Given the description of an element on the screen output the (x, y) to click on. 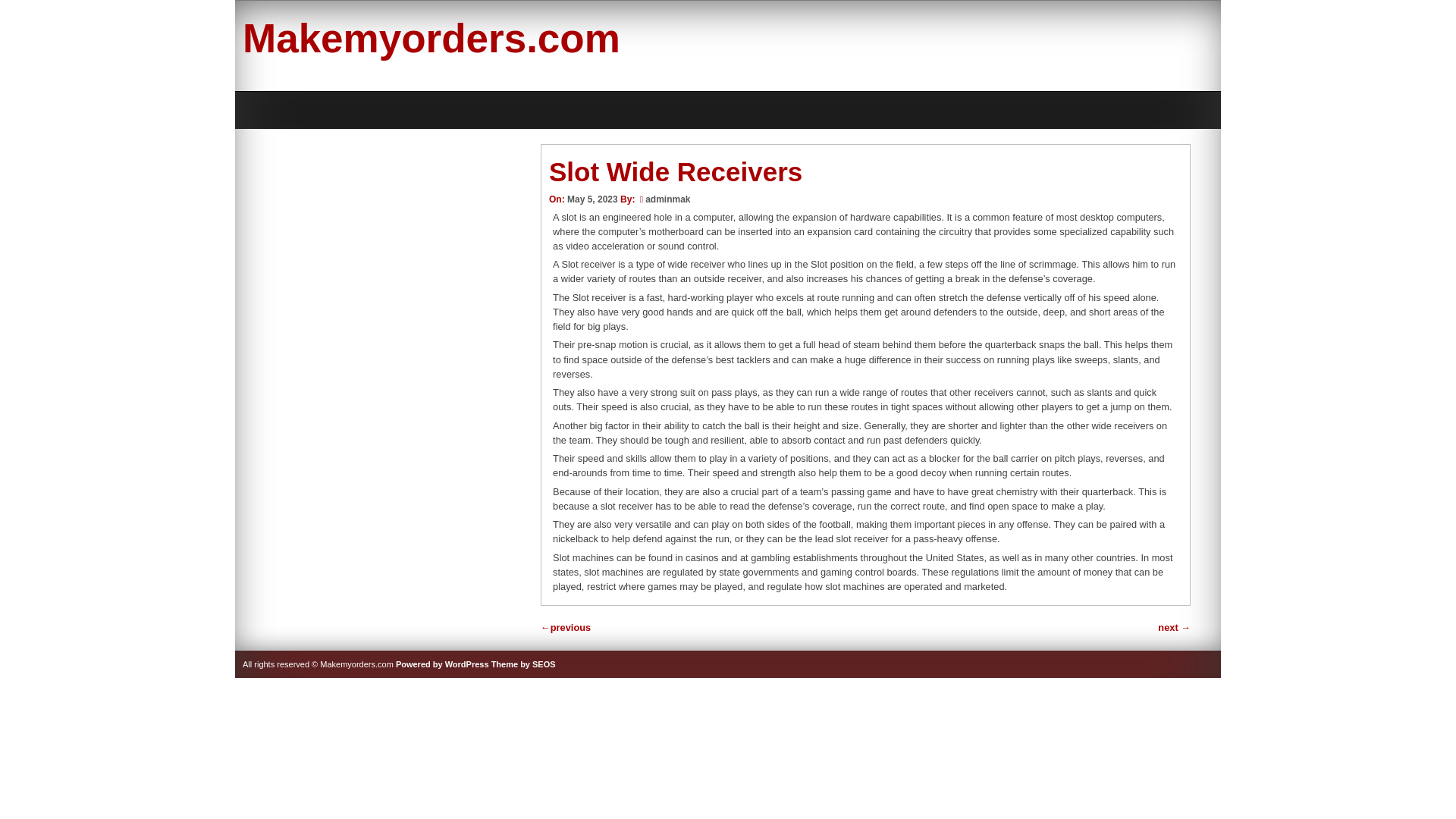
Seos free wordpress themes (524, 664)
Powered by WordPress (442, 664)
Makemyorders.com (431, 37)
adminmak (667, 199)
May 5, 2023 (592, 199)
Theme by SEOS (524, 664)
